Given the description of an element on the screen output the (x, y) to click on. 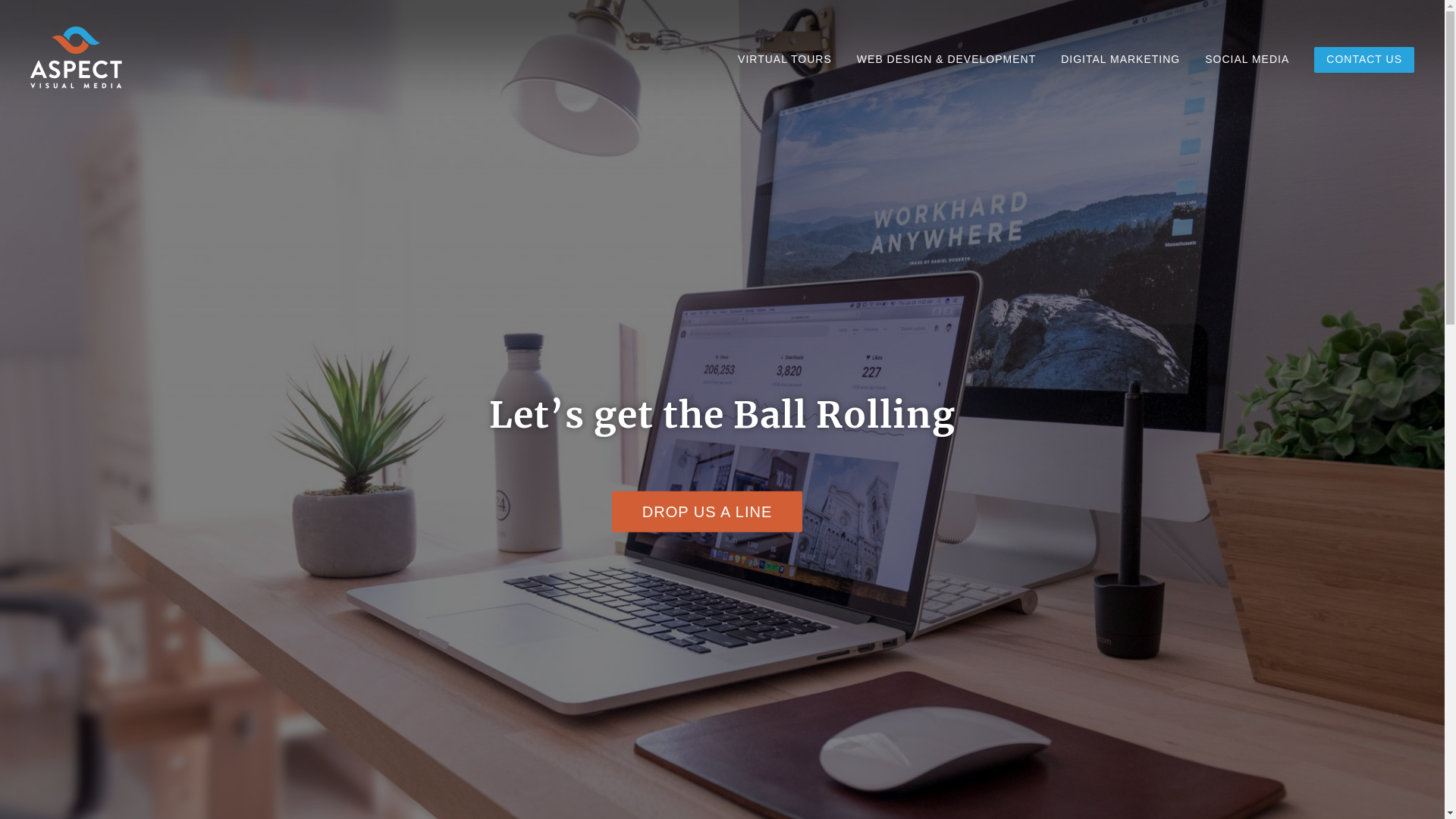
VIRTUAL TOURS Element type: text (784, 59)
Aspect Visual Media Element type: text (91, 102)
DIGITAL MARKETING Element type: text (1120, 59)
WEB DESIGN & DEVELOPMENT Element type: text (946, 59)
CONTACT US Element type: text (1364, 59)
DROP US A LINE Element type: text (706, 511)
SOCIAL MEDIA Element type: text (1246, 59)
